Given the description of an element on the screen output the (x, y) to click on. 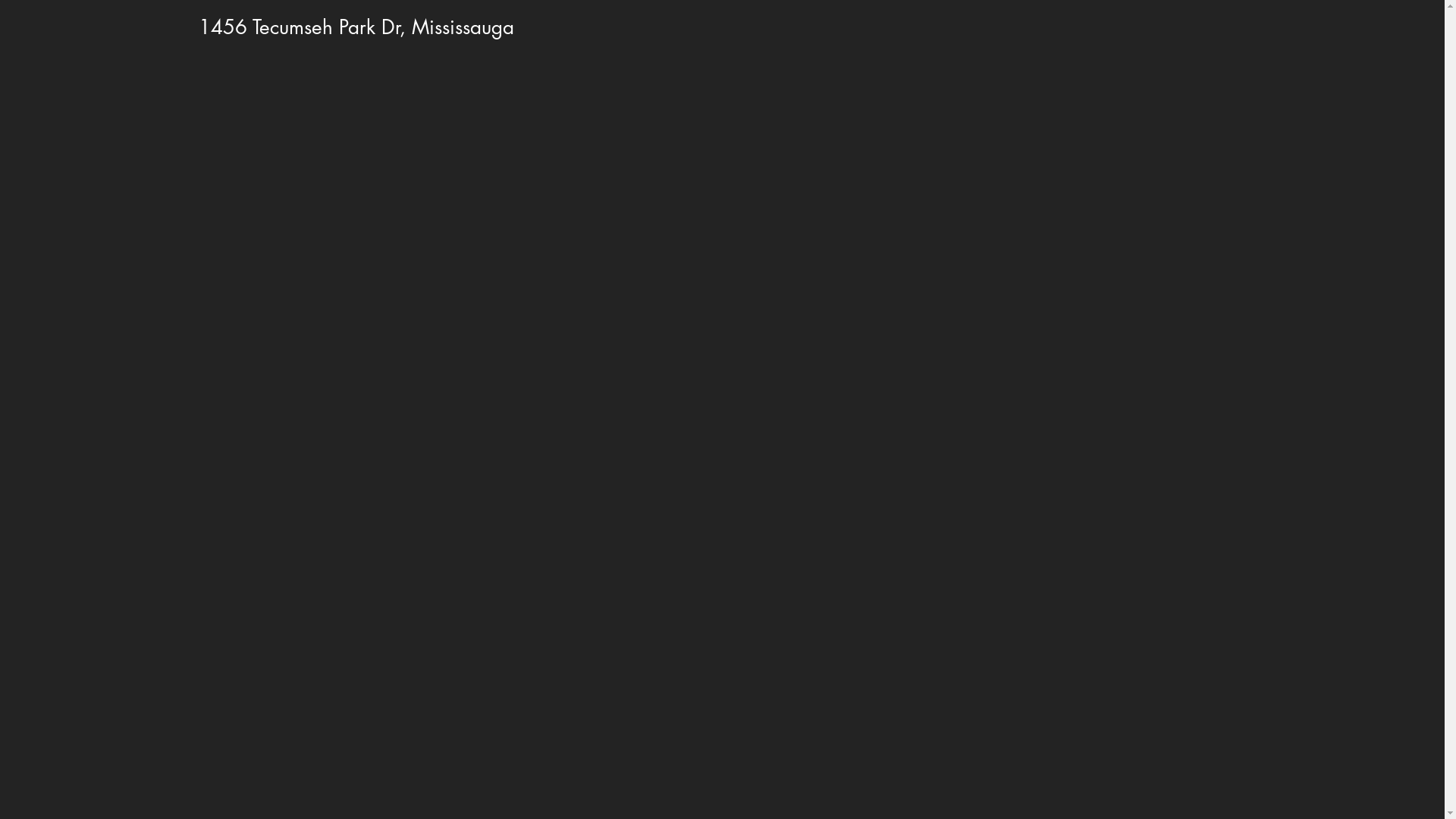
External Vimeo Element type: hover (728, 351)
